Given the description of an element on the screen output the (x, y) to click on. 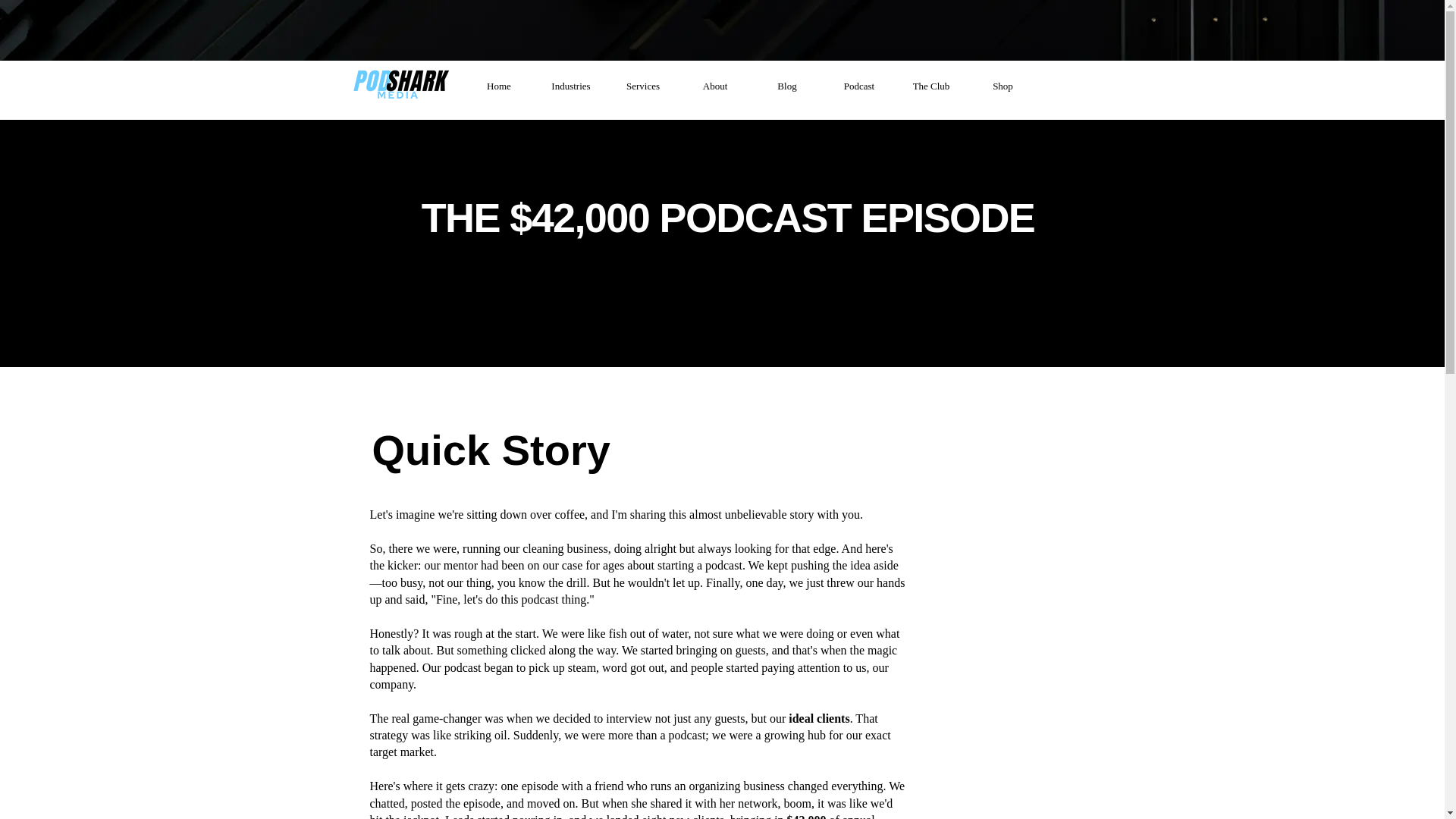
Podcast (859, 86)
The Club (930, 86)
Shop (1003, 86)
Industries (571, 86)
Home (498, 86)
About (715, 86)
Blog (786, 86)
Services (642, 86)
